Given the description of an element on the screen output the (x, y) to click on. 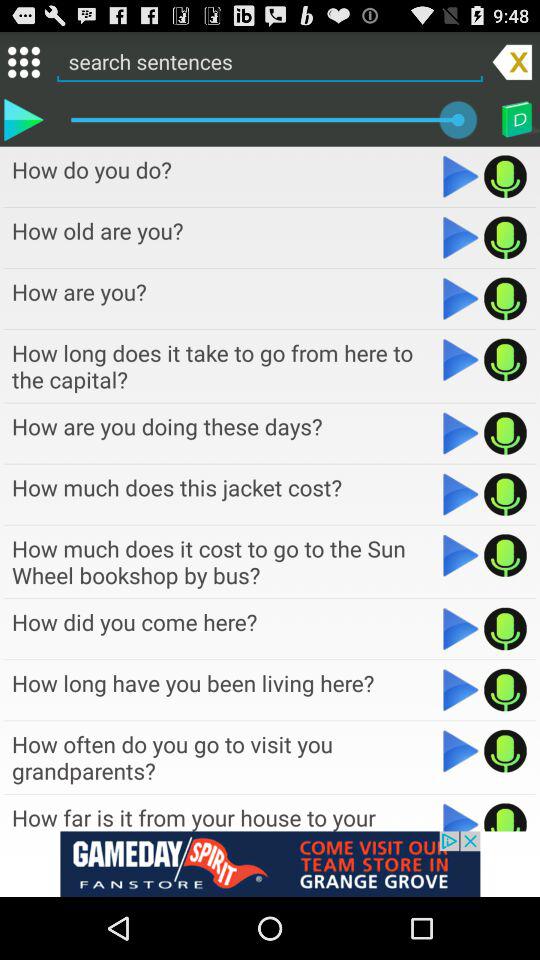
go to icon (23, 61)
